Given the description of an element on the screen output the (x, y) to click on. 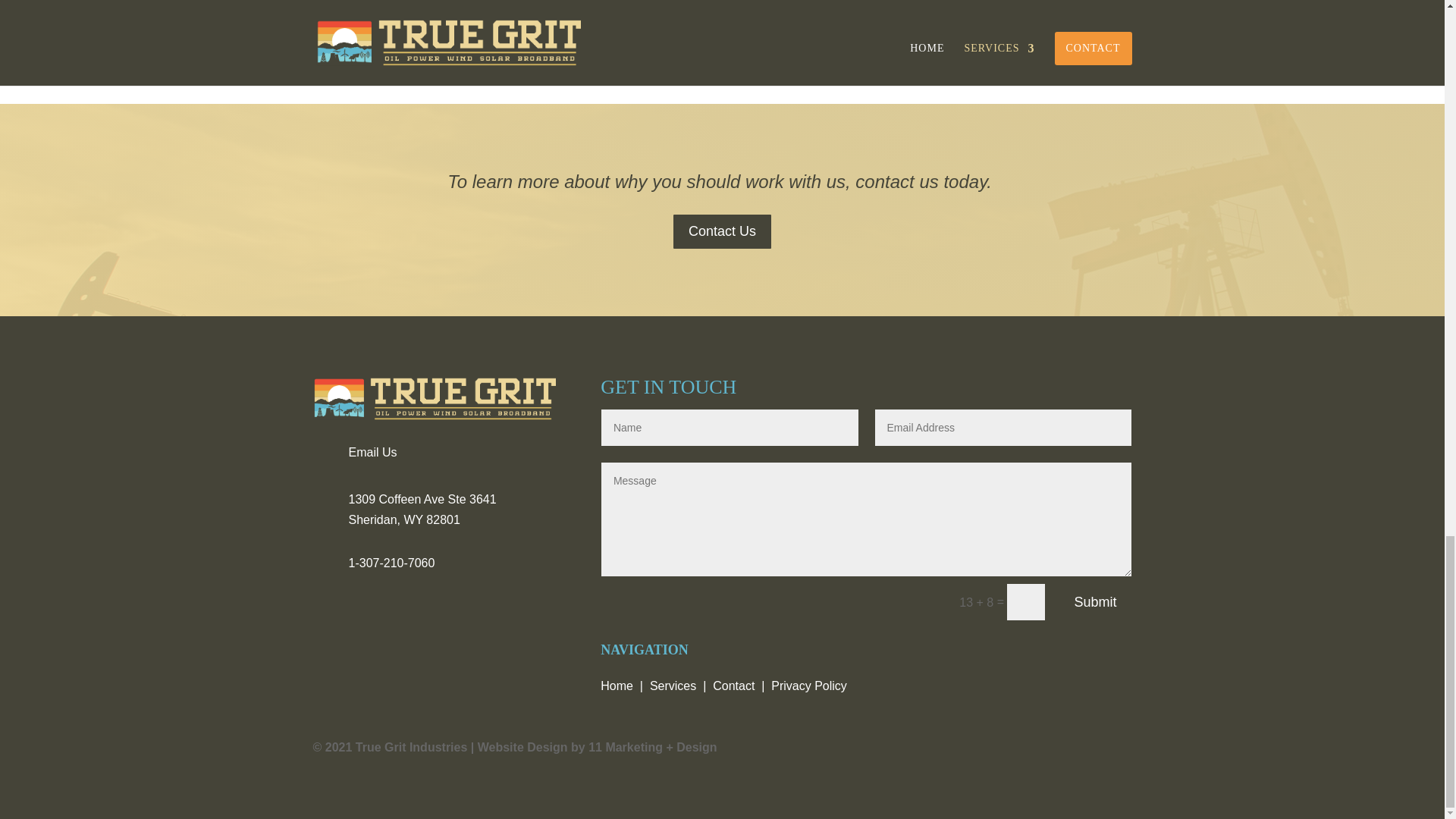
Submit (1094, 601)
Privacy Policy (809, 685)
1-307-210-7060 (392, 562)
1309 Coffeen Ave Ste 3641 (422, 499)
Email Us (373, 451)
True Grit Industries (433, 398)
Sheridan, WY 82801 (404, 519)
Contact Us (721, 231)
